Given the description of an element on the screen output the (x, y) to click on. 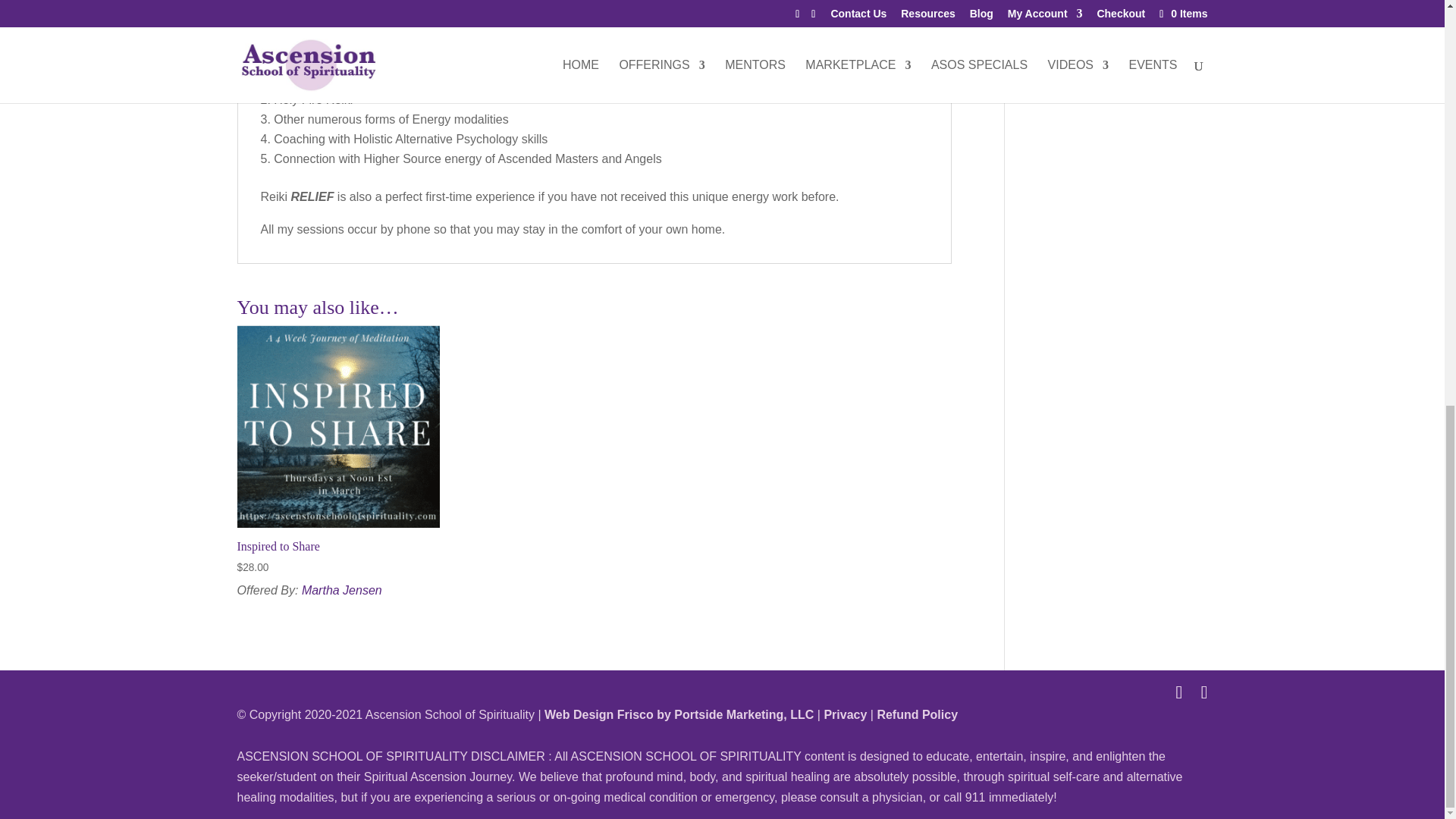
Martha Jensen (341, 590)
